Given the description of an element on the screen output the (x, y) to click on. 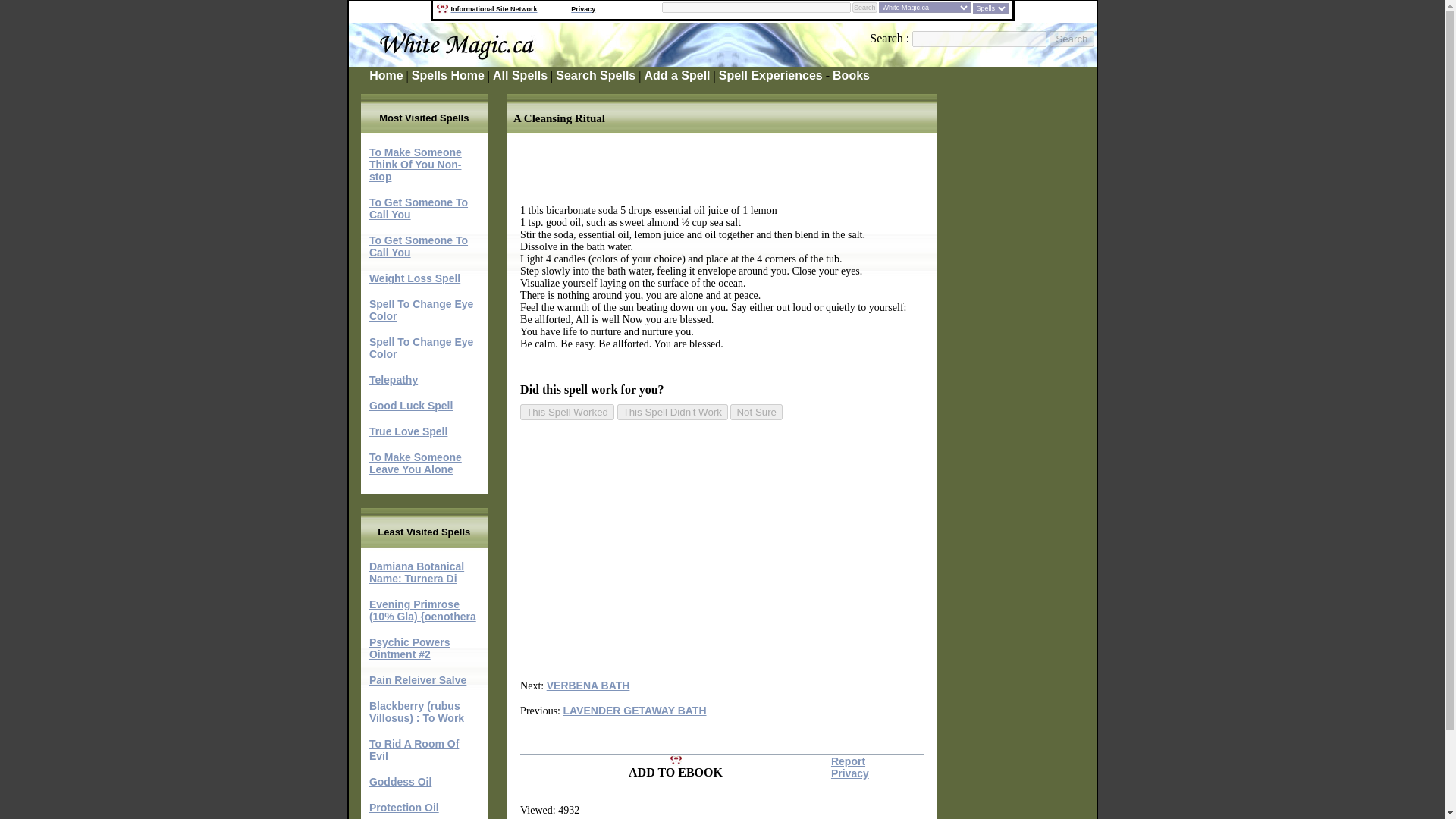
Report (847, 761)
Informational Site Network (493, 8)
Telepathy (393, 379)
Pain Releiver Salve (417, 680)
Good Luck Spell (410, 405)
Damiana Botanical Name: Turnera Di (416, 572)
Not Sure (756, 412)
Advertisement (701, 549)
To Make Someone Leave You Alone (415, 463)
To Make Someone Think Of You Non-stop (415, 164)
Spell To Change Eye Color (421, 310)
Protection Oil (404, 807)
Spells Home (448, 74)
Goddess Oil (399, 781)
True Love Spell (407, 431)
